Given the description of an element on the screen output the (x, y) to click on. 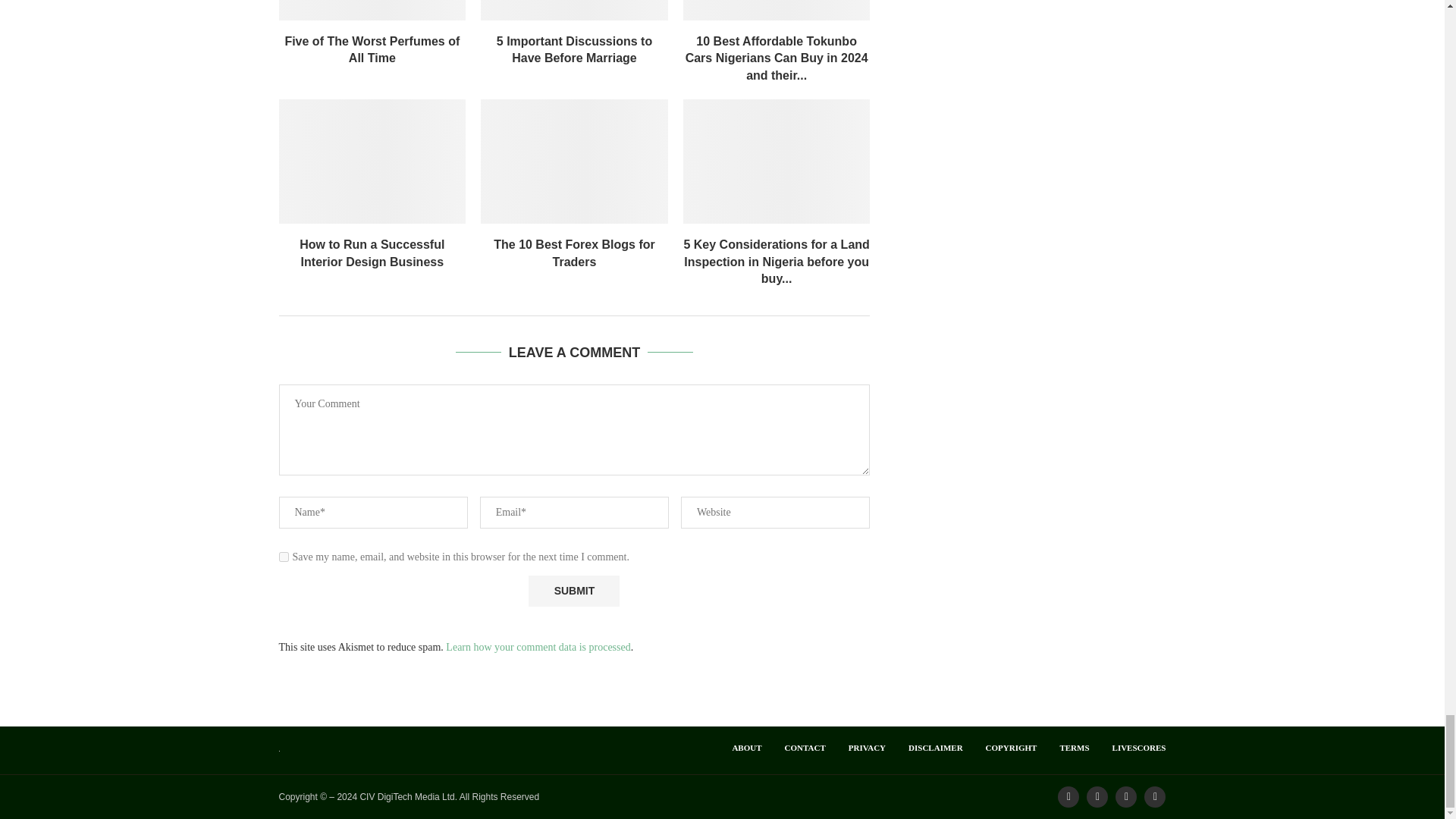
5 Important Discussions to Have Before Marriage (574, 9)
The 10 Best Forex Blogs for Traders (574, 161)
Submit (574, 590)
Five of The Worst Perfumes of All Time (372, 9)
yes (283, 556)
How to Run a Successful Interior Design Business (372, 161)
